Given the description of an element on the screen output the (x, y) to click on. 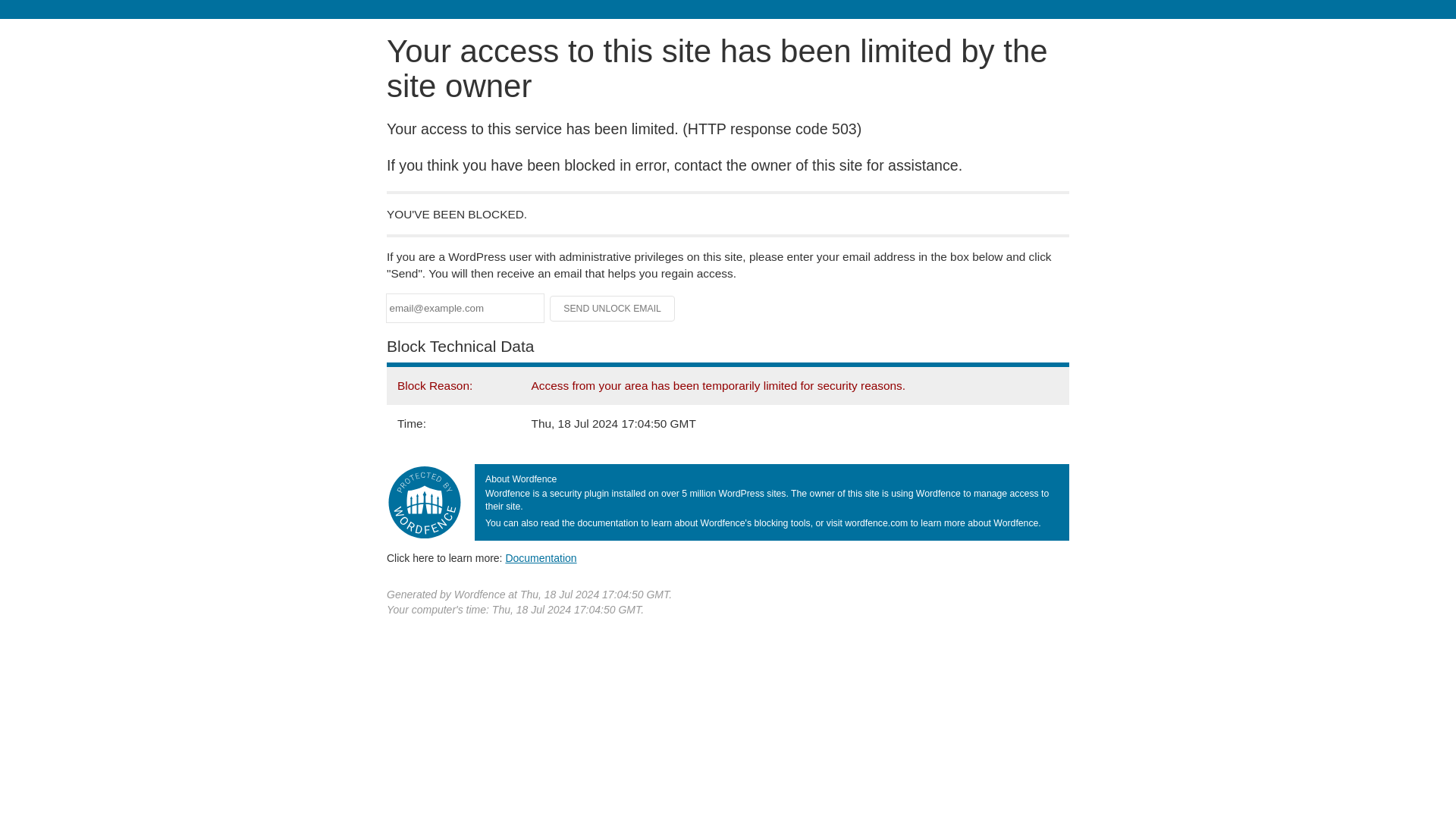
Send Unlock Email (612, 308)
Send Unlock Email (612, 308)
Documentation (540, 558)
